Given the description of an element on the screen output the (x, y) to click on. 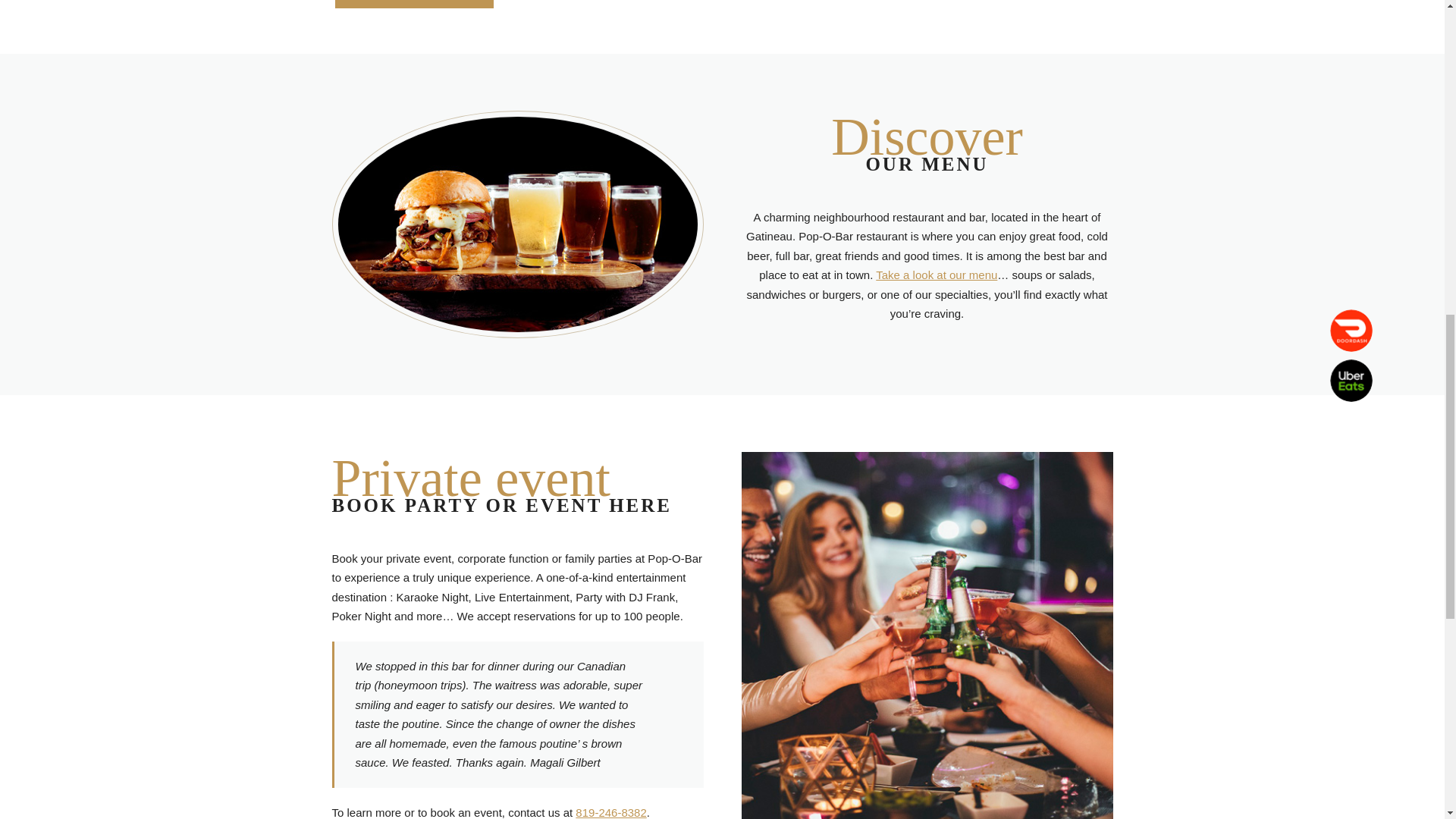
MAKE A RESERVATION (414, 4)
819-246-8382 (610, 812)
Take a look at our menu (936, 274)
